Given the description of an element on the screen output the (x, y) to click on. 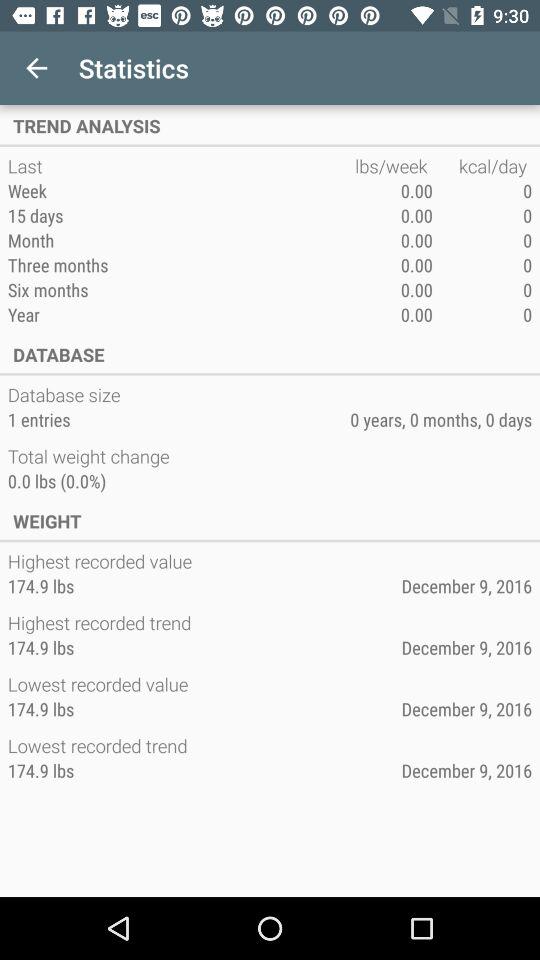
turn on the icon to the left of statistics app (36, 68)
